Given the description of an element on the screen output the (x, y) to click on. 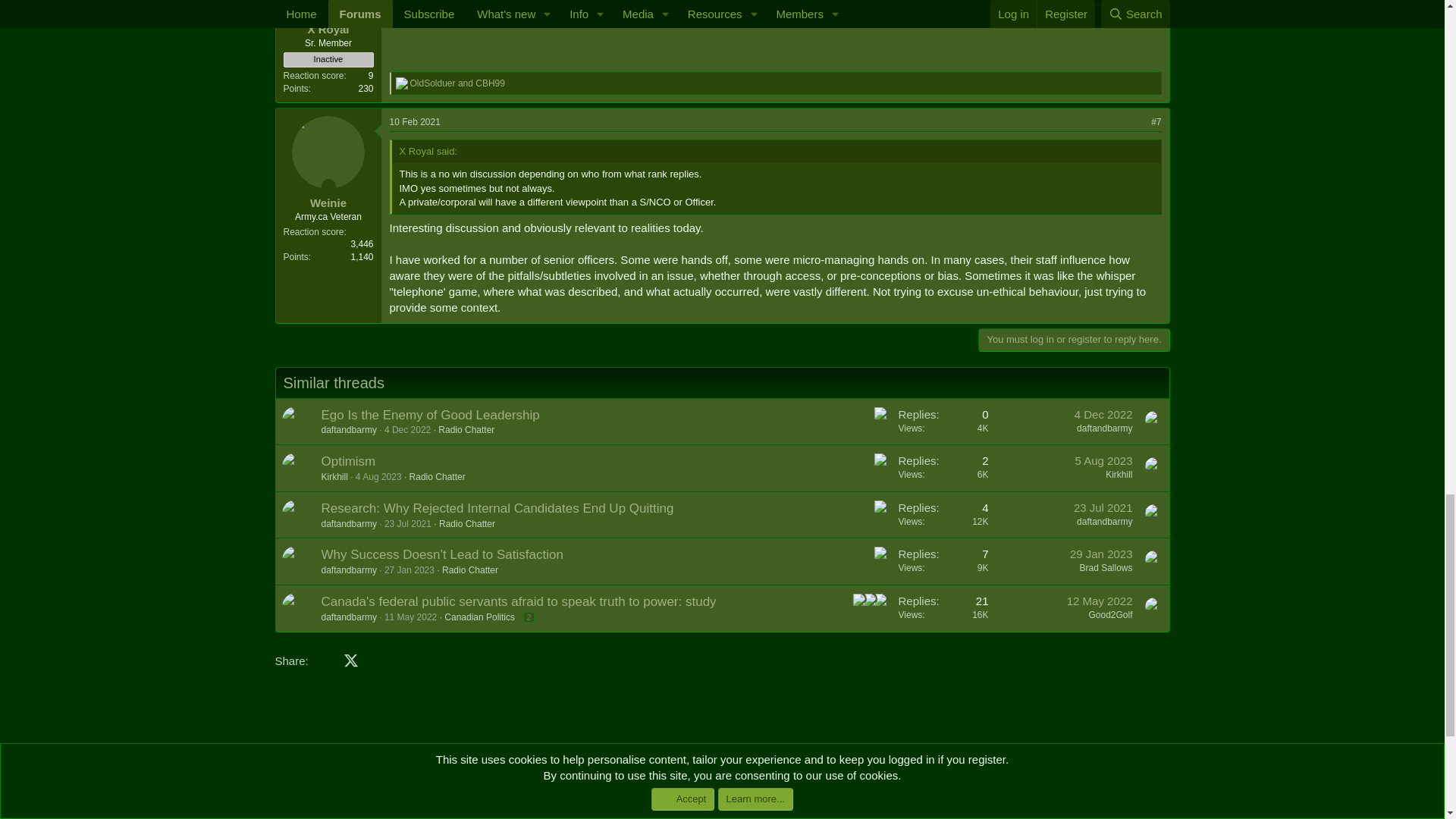
10 Feb 2021 at 20:01 (415, 122)
Like (401, 82)
4 Dec 2022 at 18:28 (1103, 413)
4 Dec 2022 at 18:28 (407, 429)
First message reaction score: 3 (942, 421)
Like (879, 413)
